Given the description of an element on the screen output the (x, y) to click on. 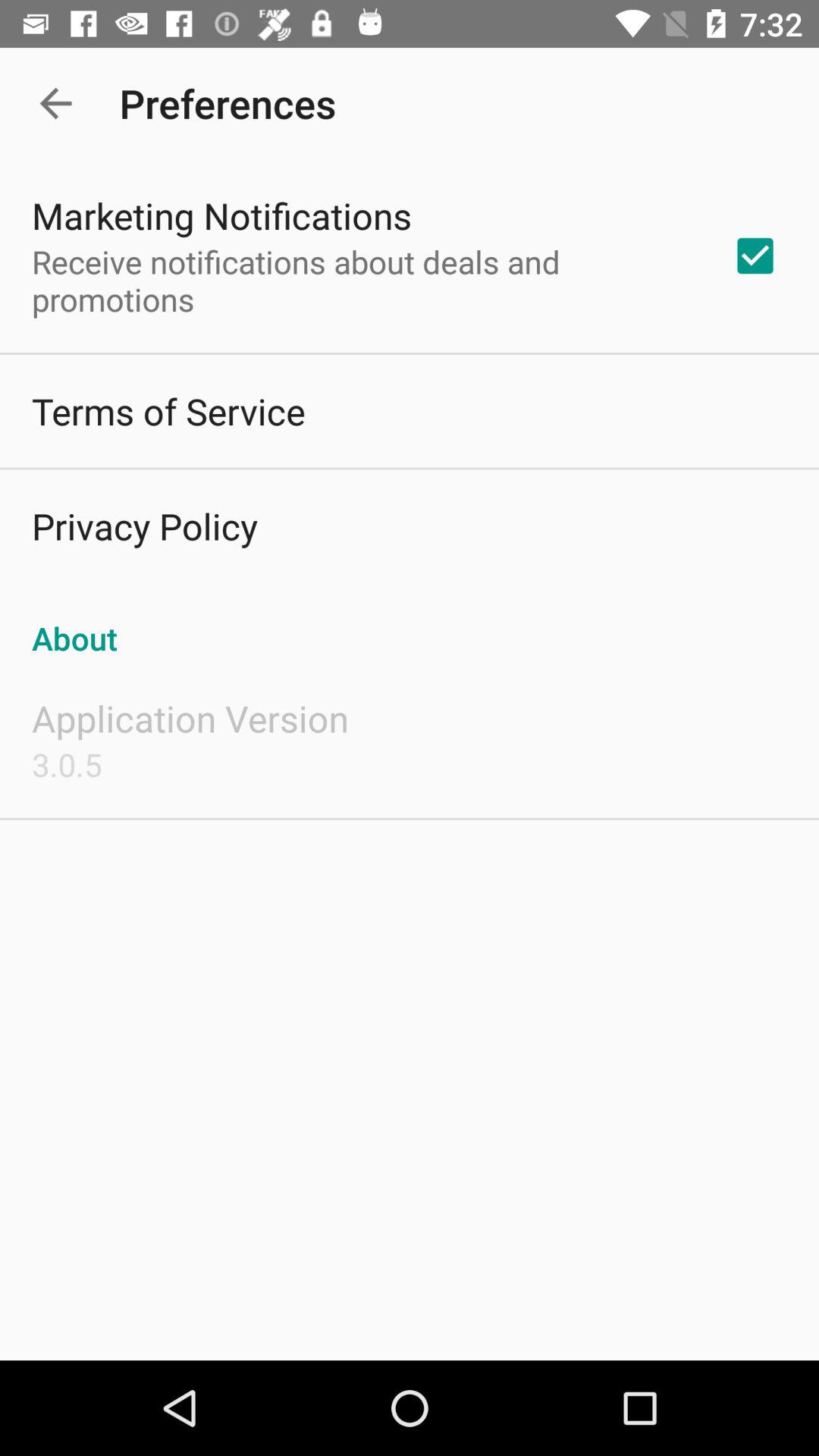
flip to application version item (189, 717)
